Given the description of an element on the screen output the (x, y) to click on. 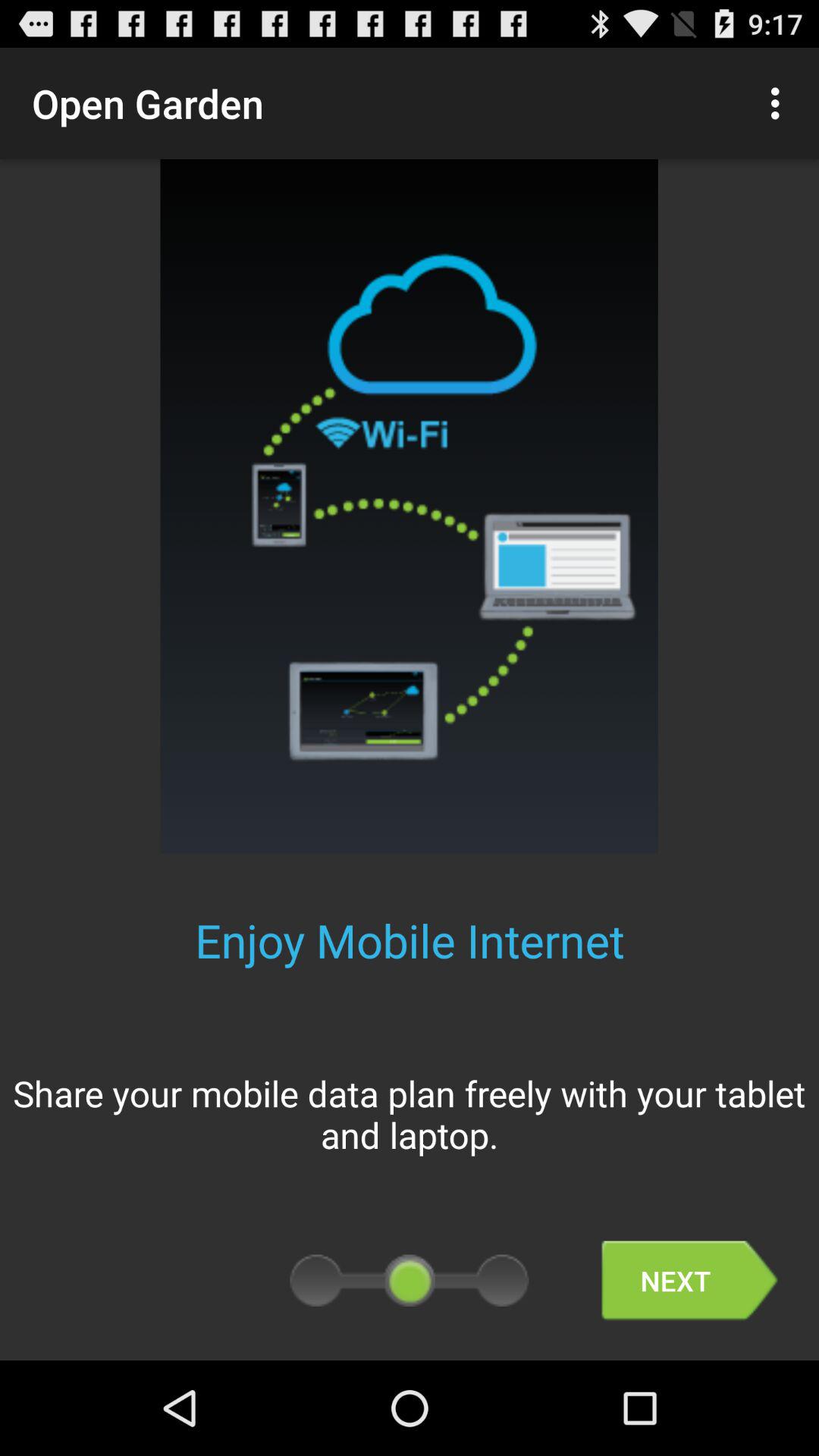
click item below the share your mobile item (689, 1280)
